Given the description of an element on the screen output the (x, y) to click on. 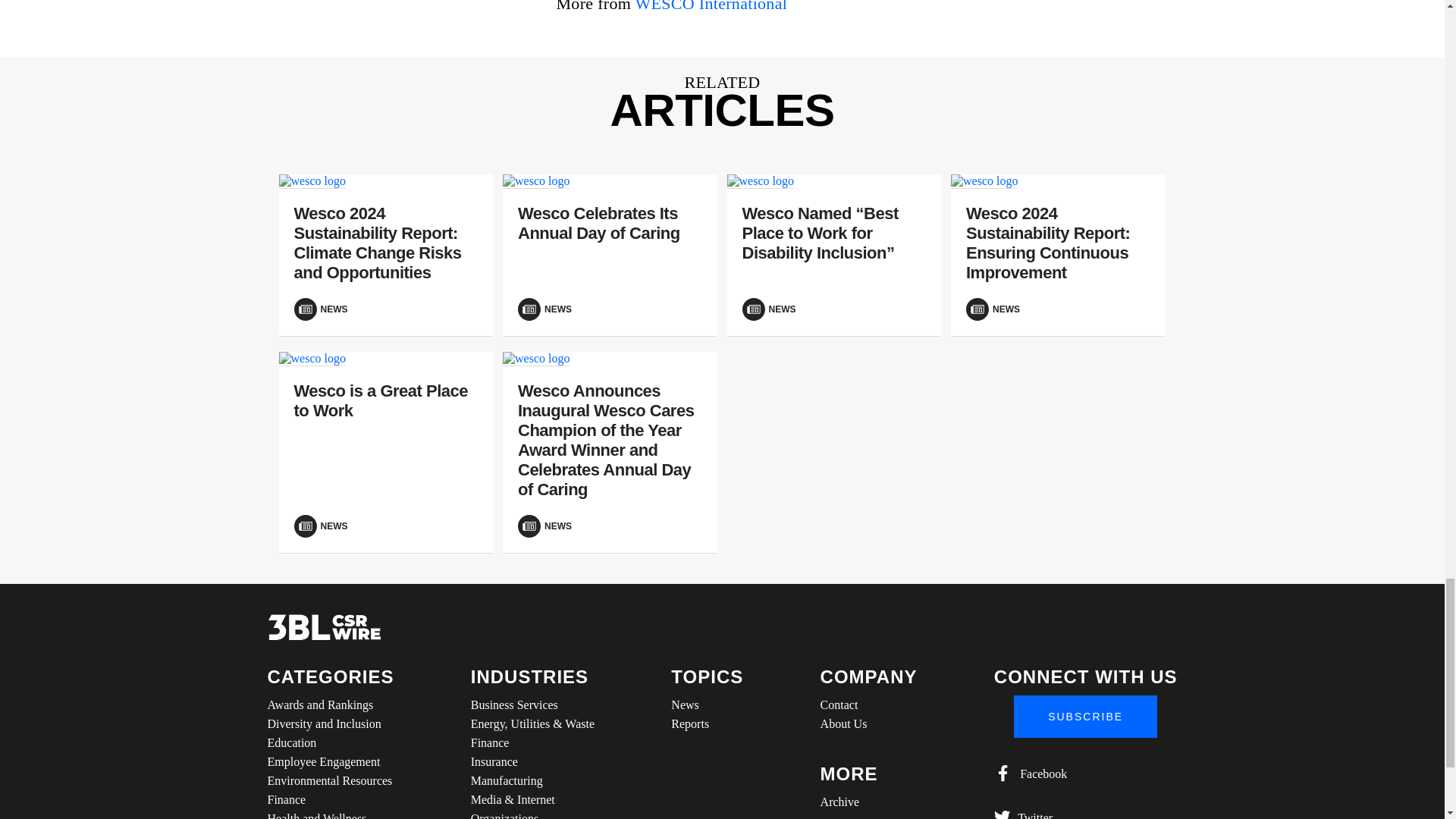
WESCO International (710, 6)
NEWS (386, 309)
